Given the description of an element on the screen output the (x, y) to click on. 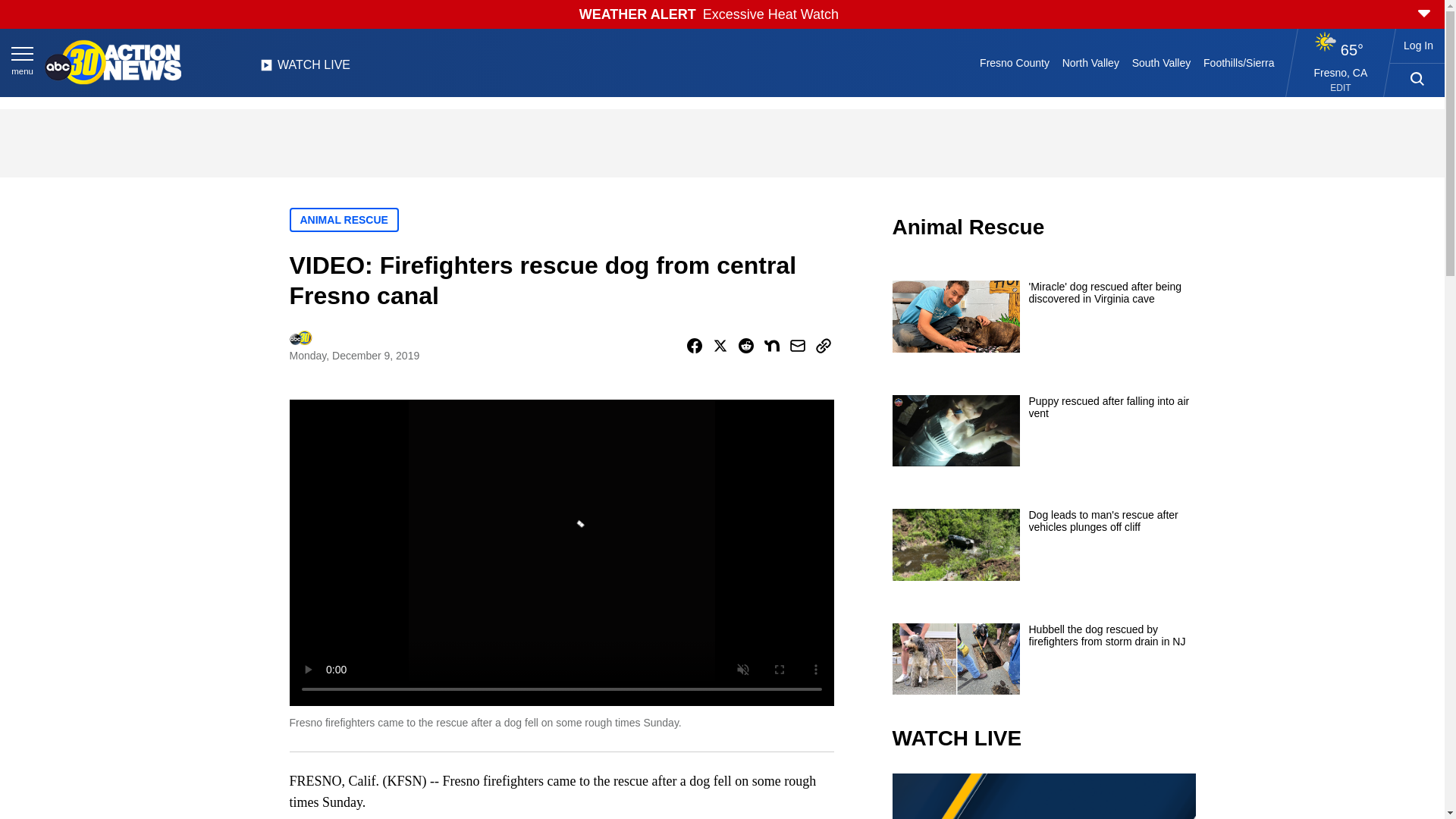
WATCH LIVE (305, 69)
EDIT (1340, 87)
South Valley (1160, 62)
North Valley (1090, 62)
Fresno, CA (1340, 72)
Fresno County (1015, 62)
